Given the description of an element on the screen output the (x, y) to click on. 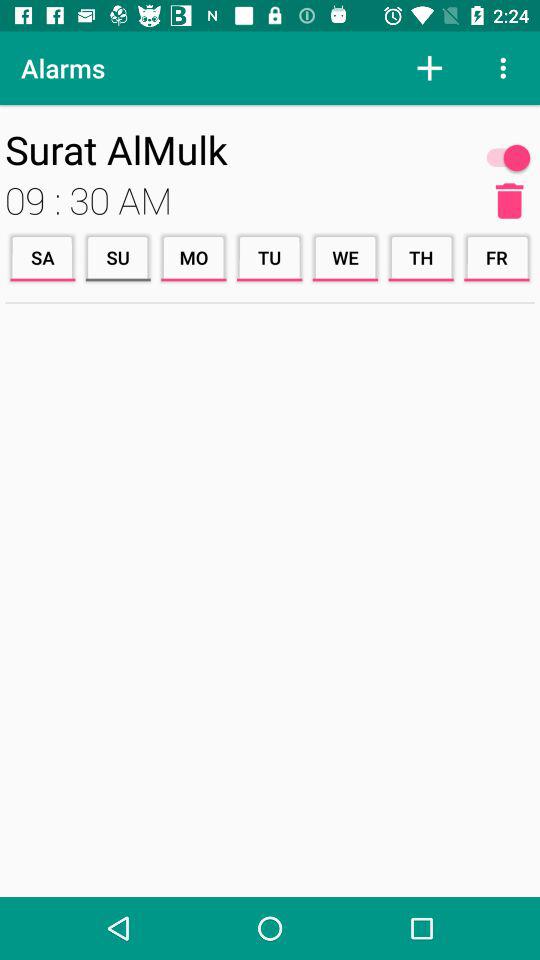
turn on the icon below the 09 : 30 am icon (42, 257)
